Given the description of an element on the screen output the (x, y) to click on. 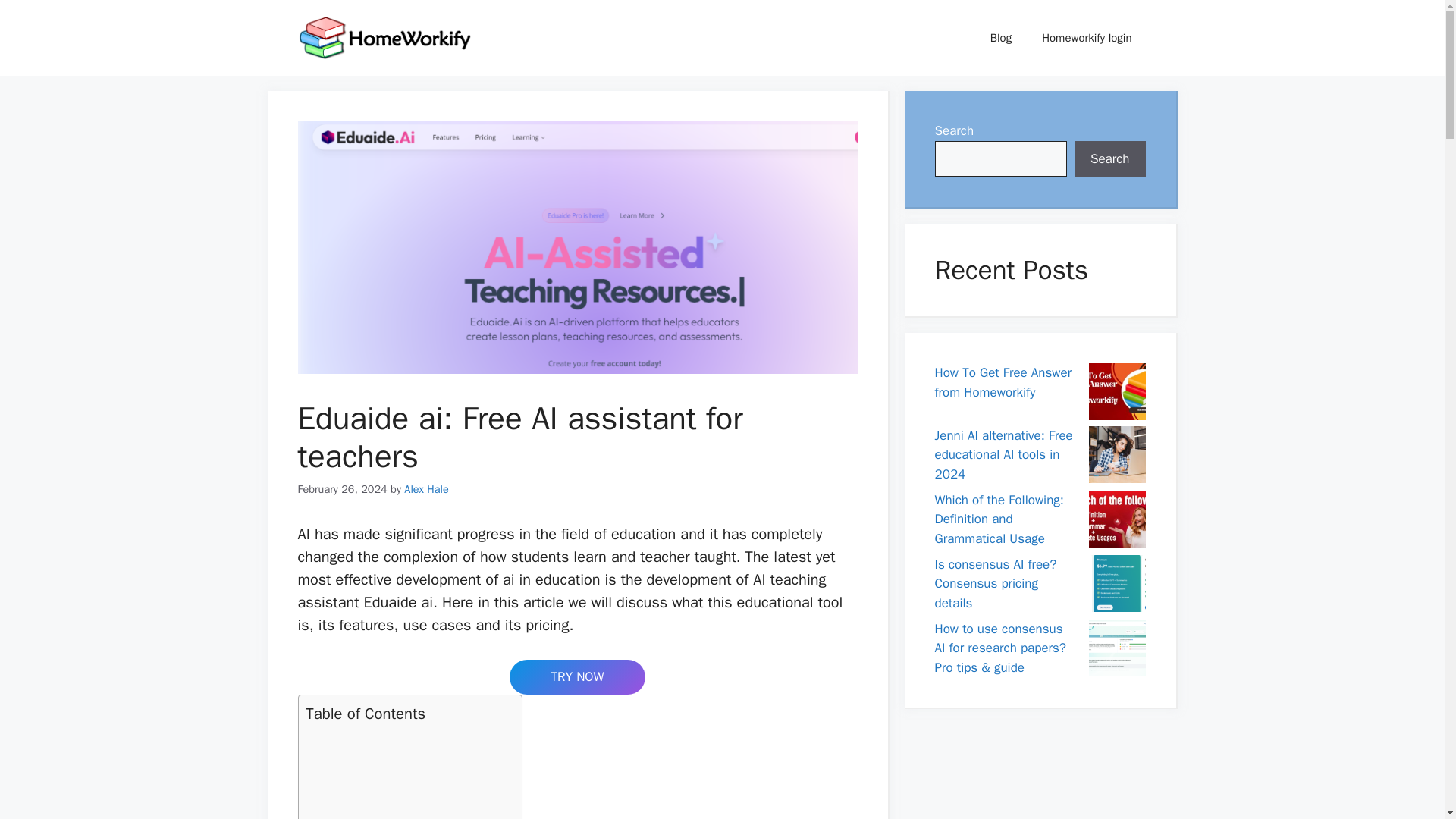
Advertisement (405, 775)
Jenni AI alternative: Free educational AI tools in 2024 (1002, 454)
Which of the Following: Definition and Grammatical Usage (998, 518)
Search (1109, 158)
TRY NOW (577, 677)
Homeworkify login (1086, 37)
Blog (1000, 37)
View all posts by Alex Hale (426, 489)
How To Get Free Answer from Homeworkify (1002, 382)
Alex Hale (426, 489)
Is consensus AI free? Consensus pricing details (995, 583)
